Given the description of an element on the screen output the (x, y) to click on. 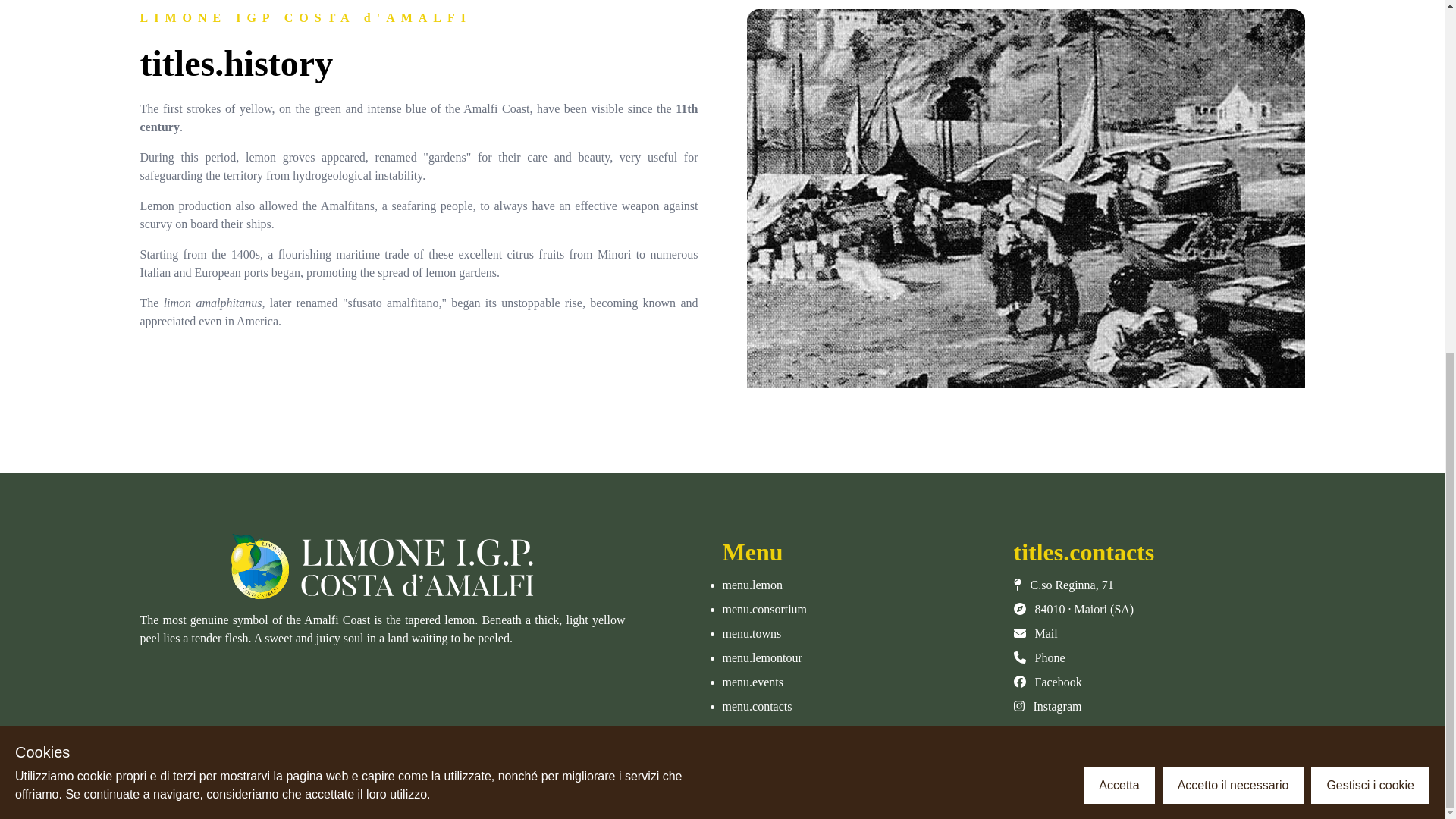
menu.lemon (752, 584)
